Given the description of an element on the screen output the (x, y) to click on. 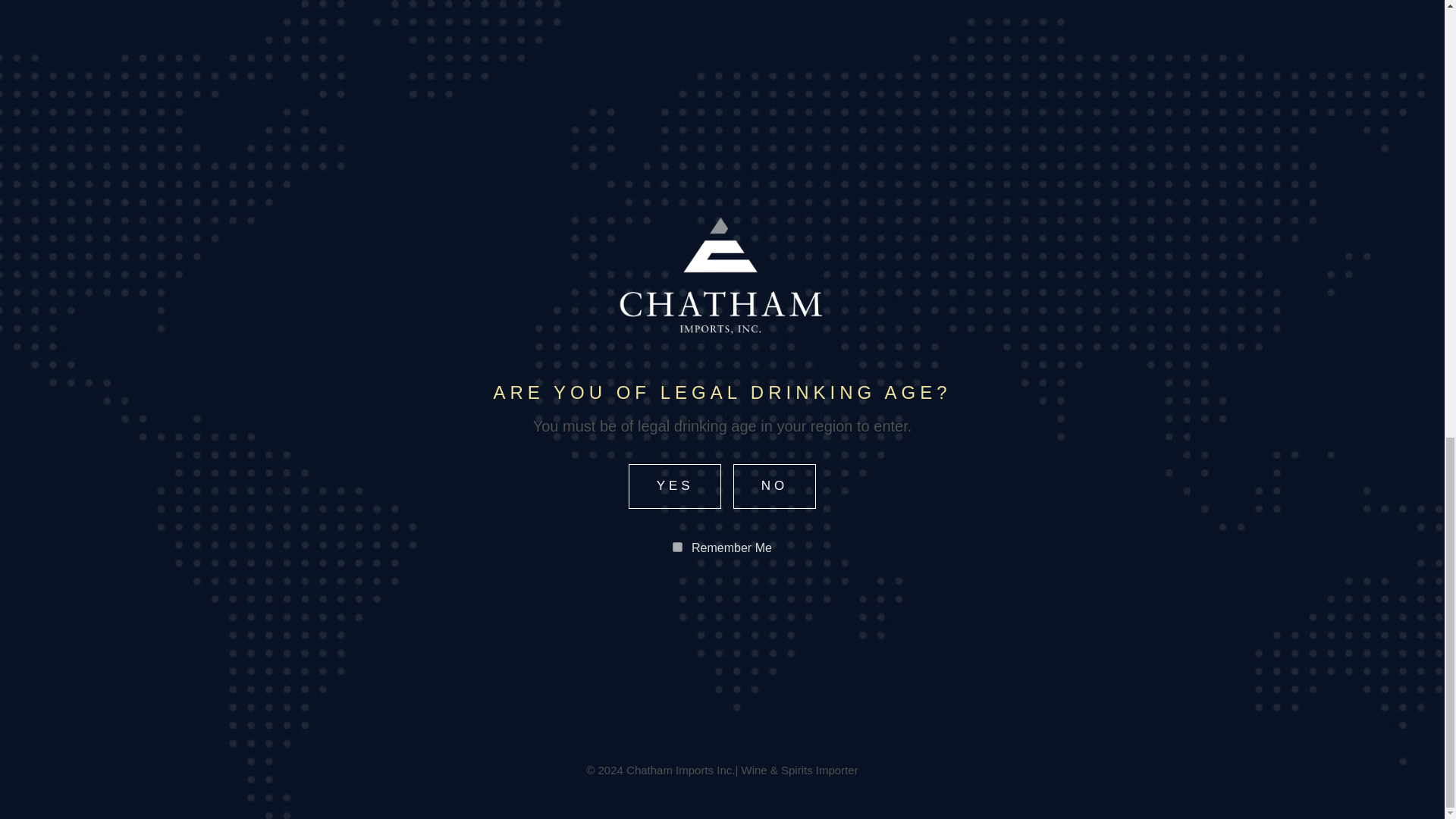
About (772, 655)
Contact (911, 655)
Brands (837, 655)
212.473.1100 (877, 768)
SEE ALL BRANDS (722, 245)
